Given the description of an element on the screen output the (x, y) to click on. 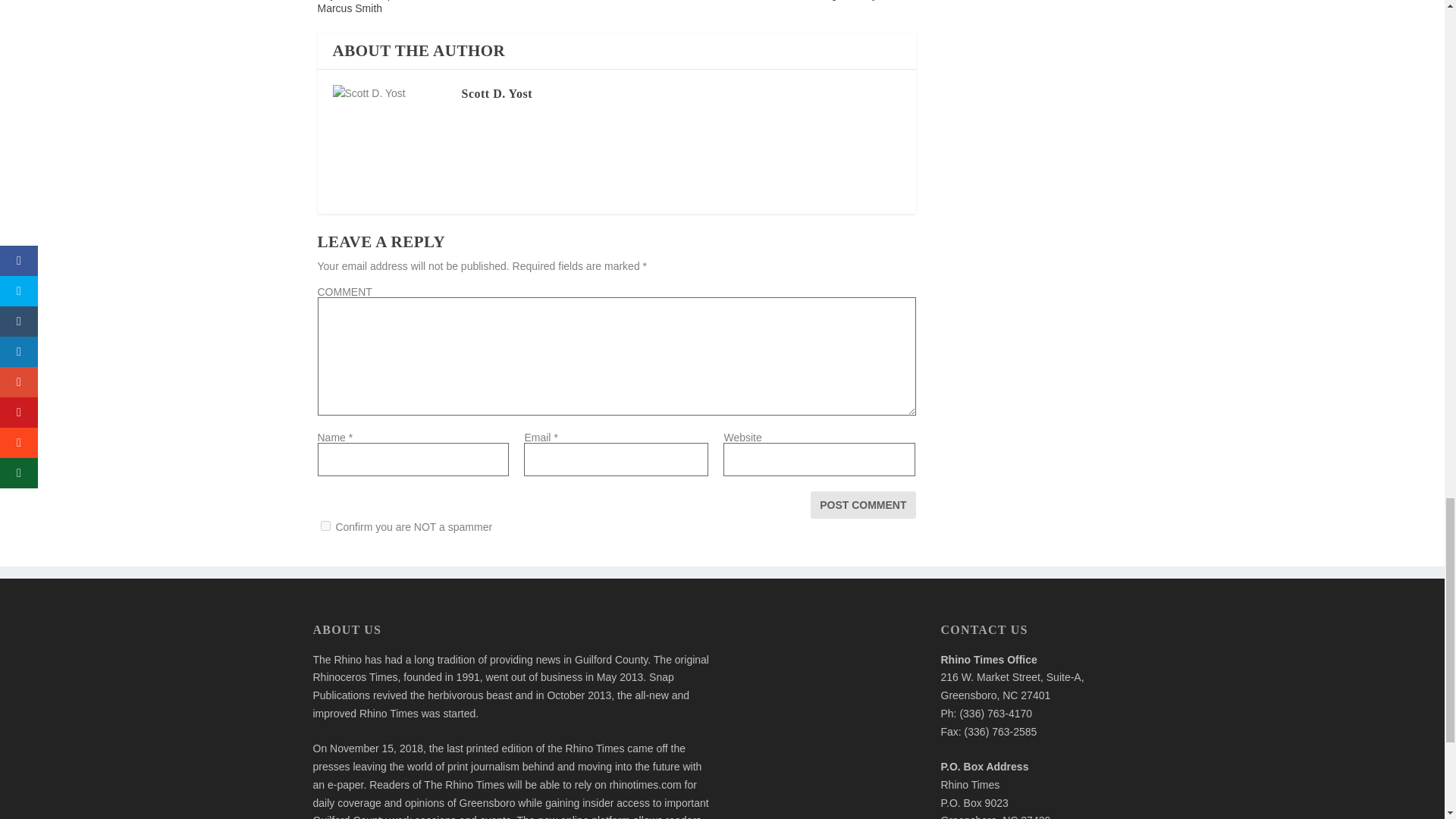
View all posts by Scott D. Yost (496, 92)
Post Comment (862, 504)
on (325, 525)
